Given the description of an element on the screen output the (x, y) to click on. 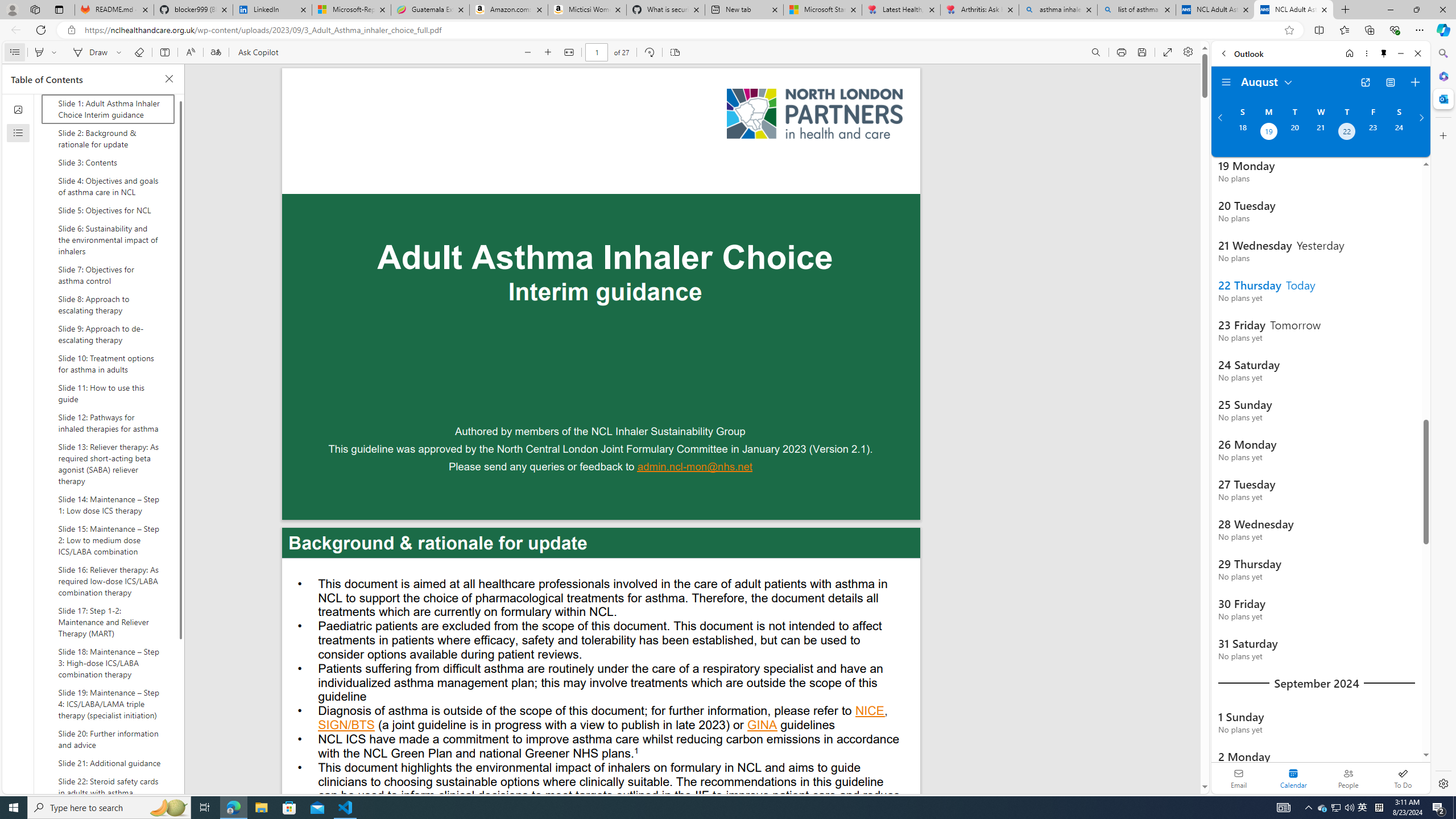
Fit to width (Ctrl+\) (569, 52)
Add text (164, 52)
Page view (674, 52)
Sunday, August 18, 2024.  (1242, 132)
Monday, August 19, 2024. Date selected.  (1268, 132)
Wednesday, August 21, 2024.  (1320, 132)
